Given the description of an element on the screen output the (x, y) to click on. 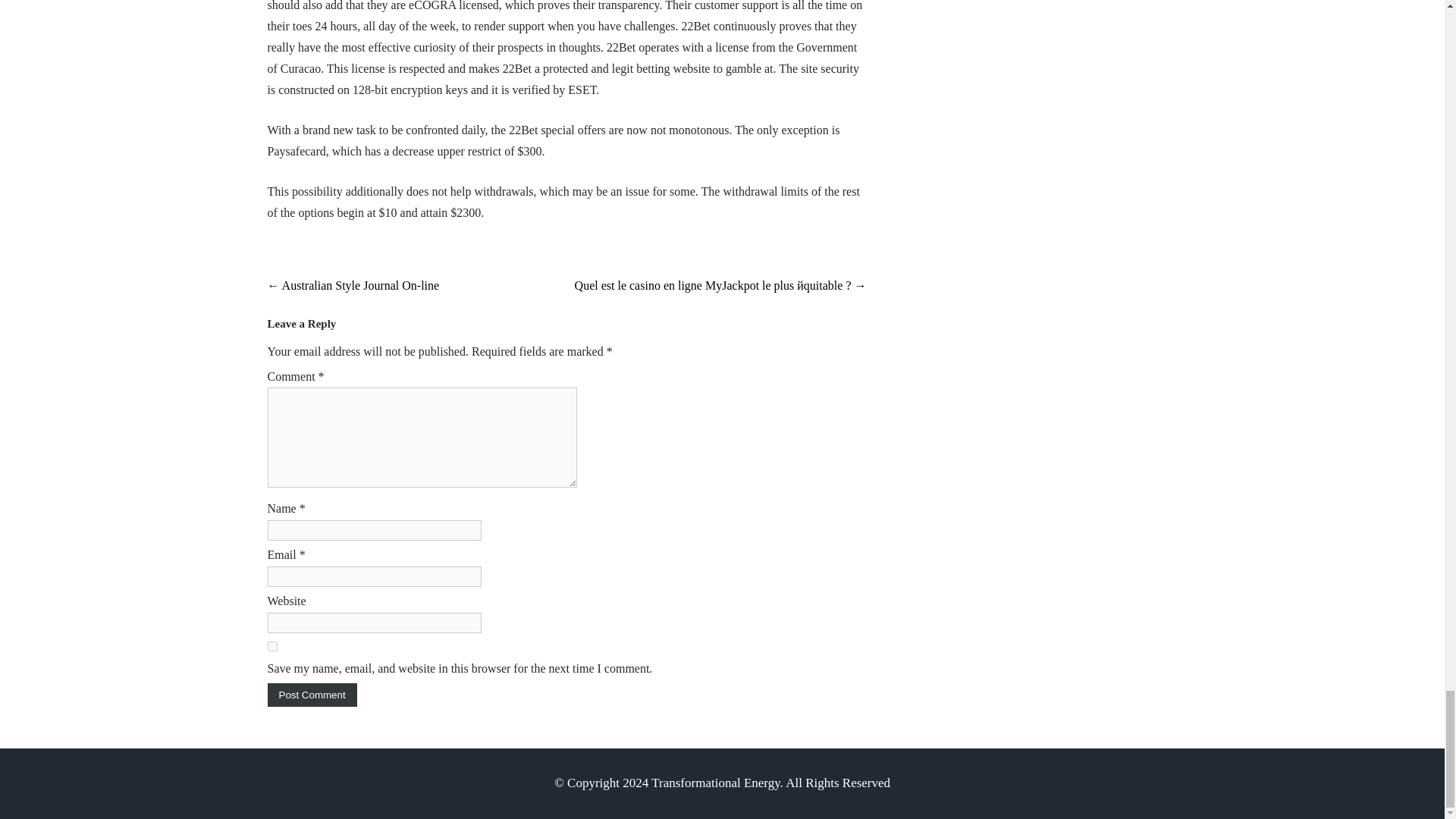
Post Comment (311, 694)
yes (271, 646)
Post Comment (311, 694)
